Given the description of an element on the screen output the (x, y) to click on. 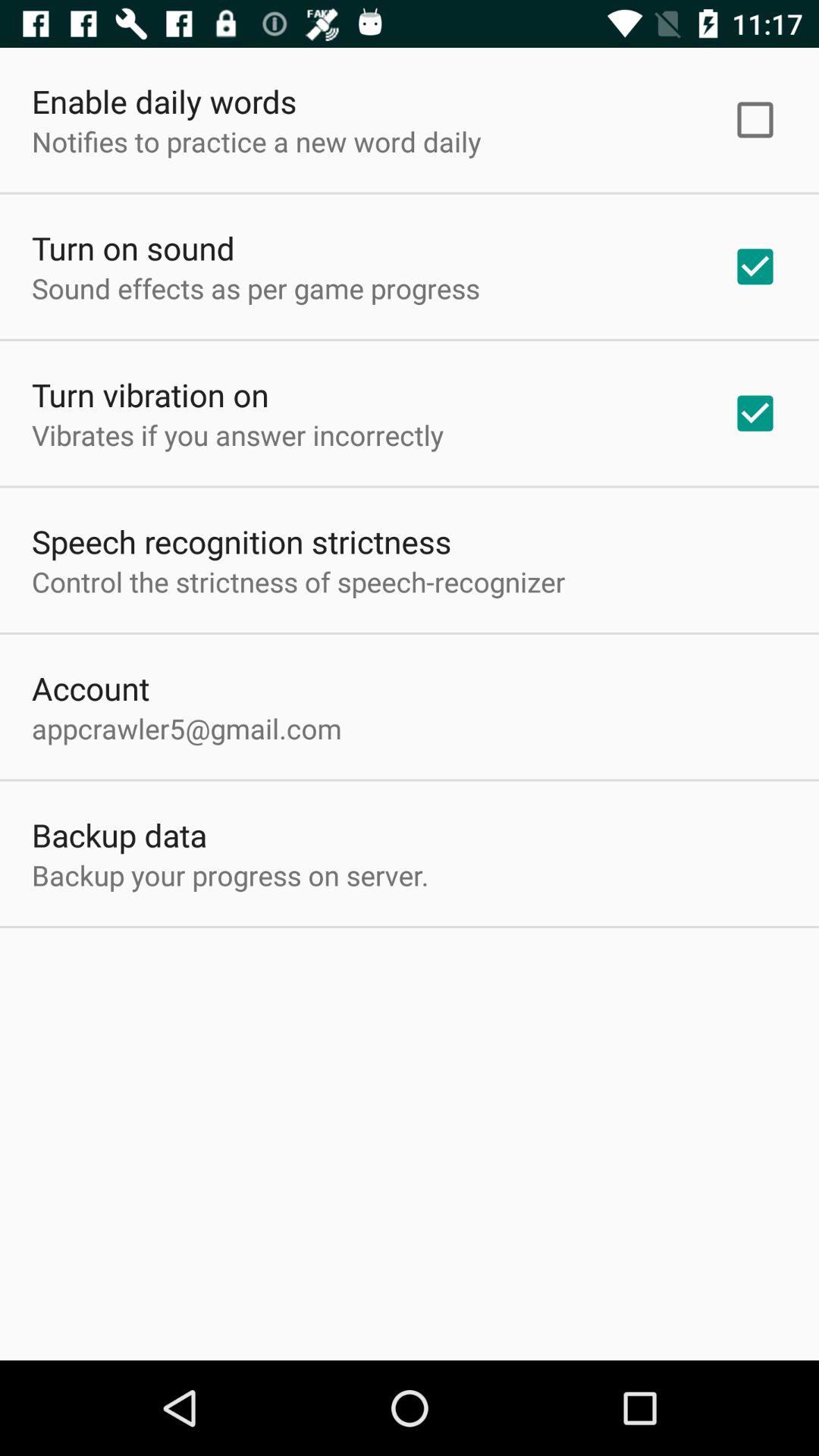
turn off the app at the center (298, 581)
